Given the description of an element on the screen output the (x, y) to click on. 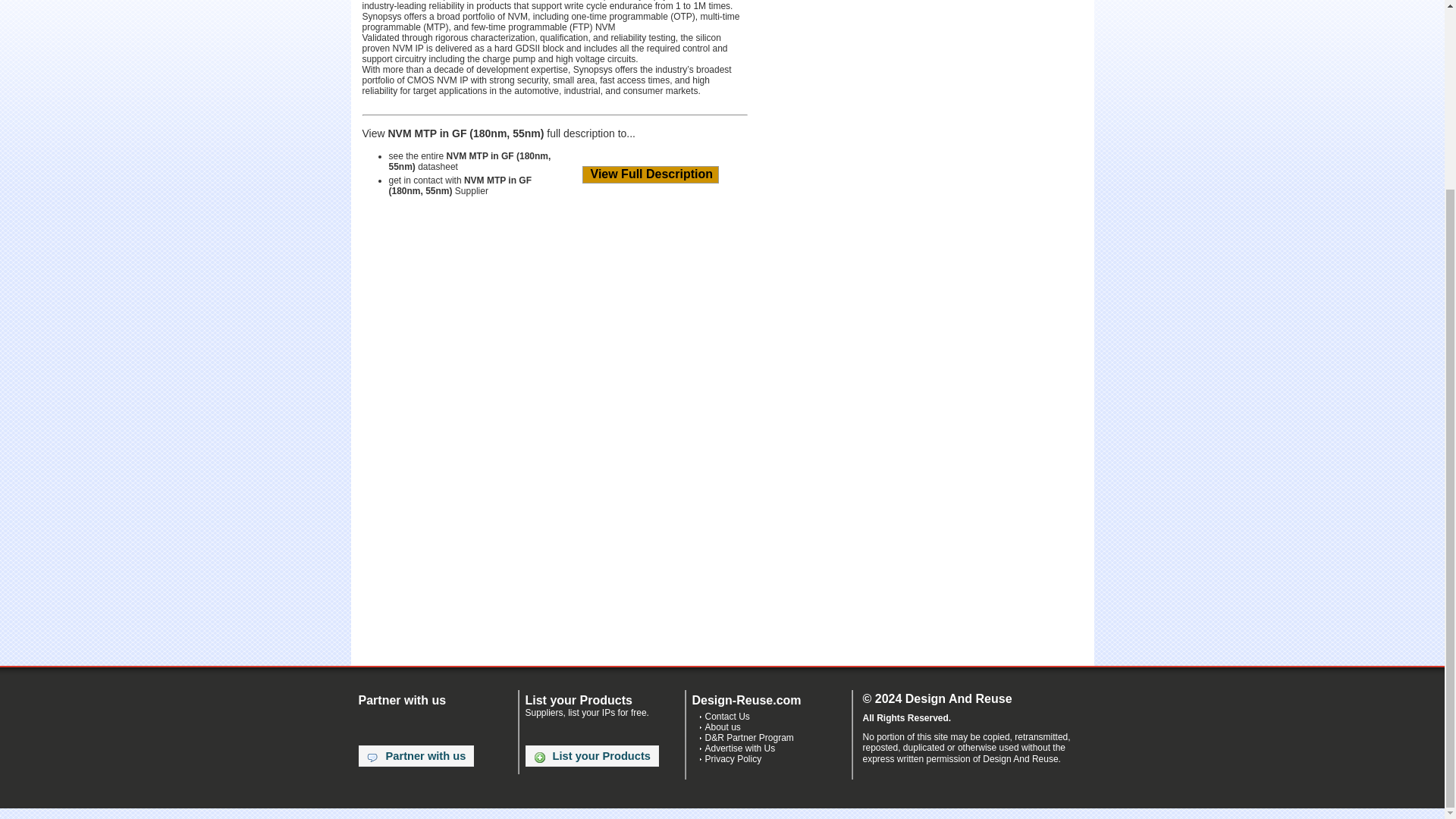
View Full Description (650, 174)
